Given the description of an element on the screen output the (x, y) to click on. 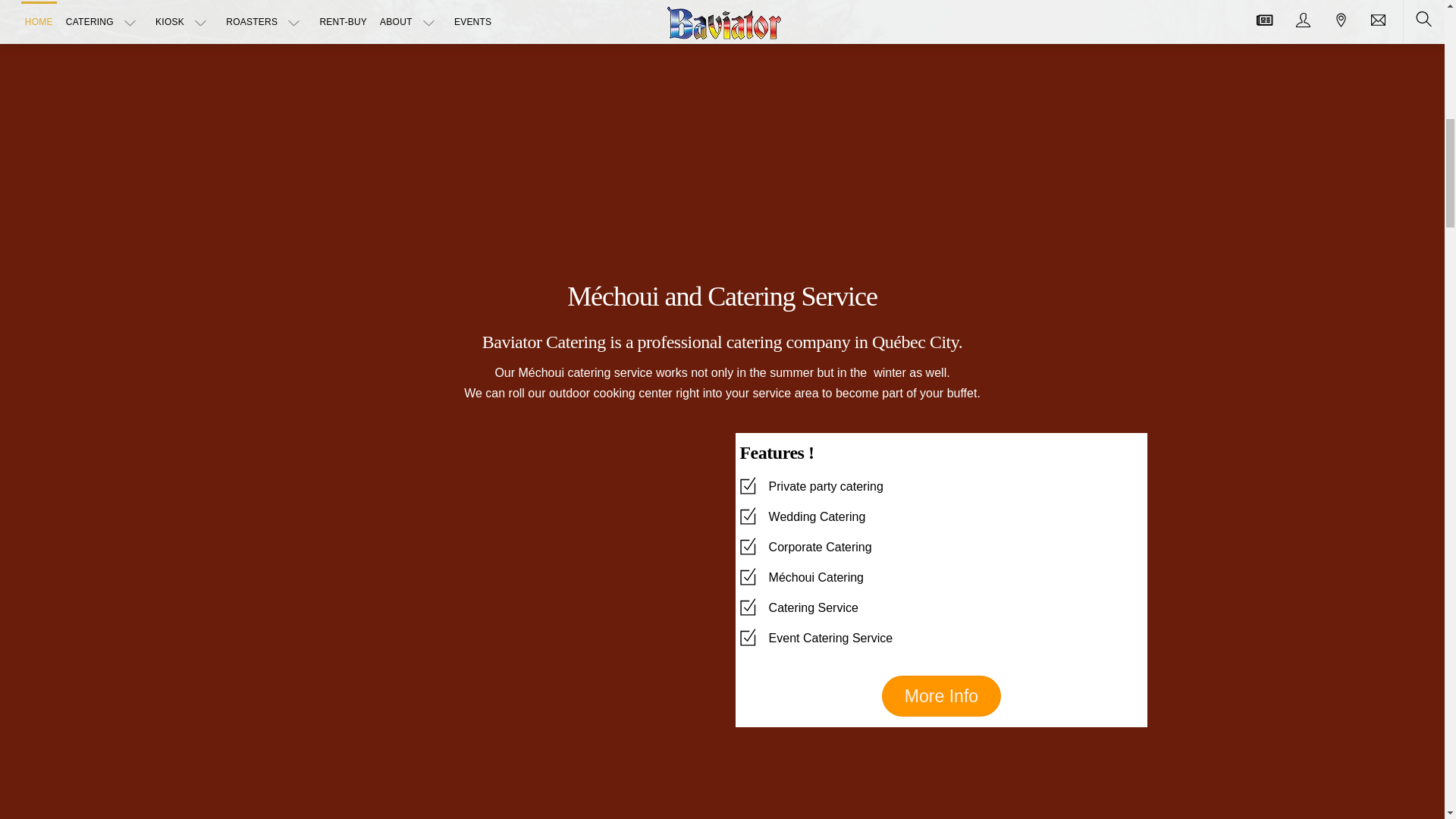
More Info (941, 695)
